Given the description of an element on the screen output the (x, y) to click on. 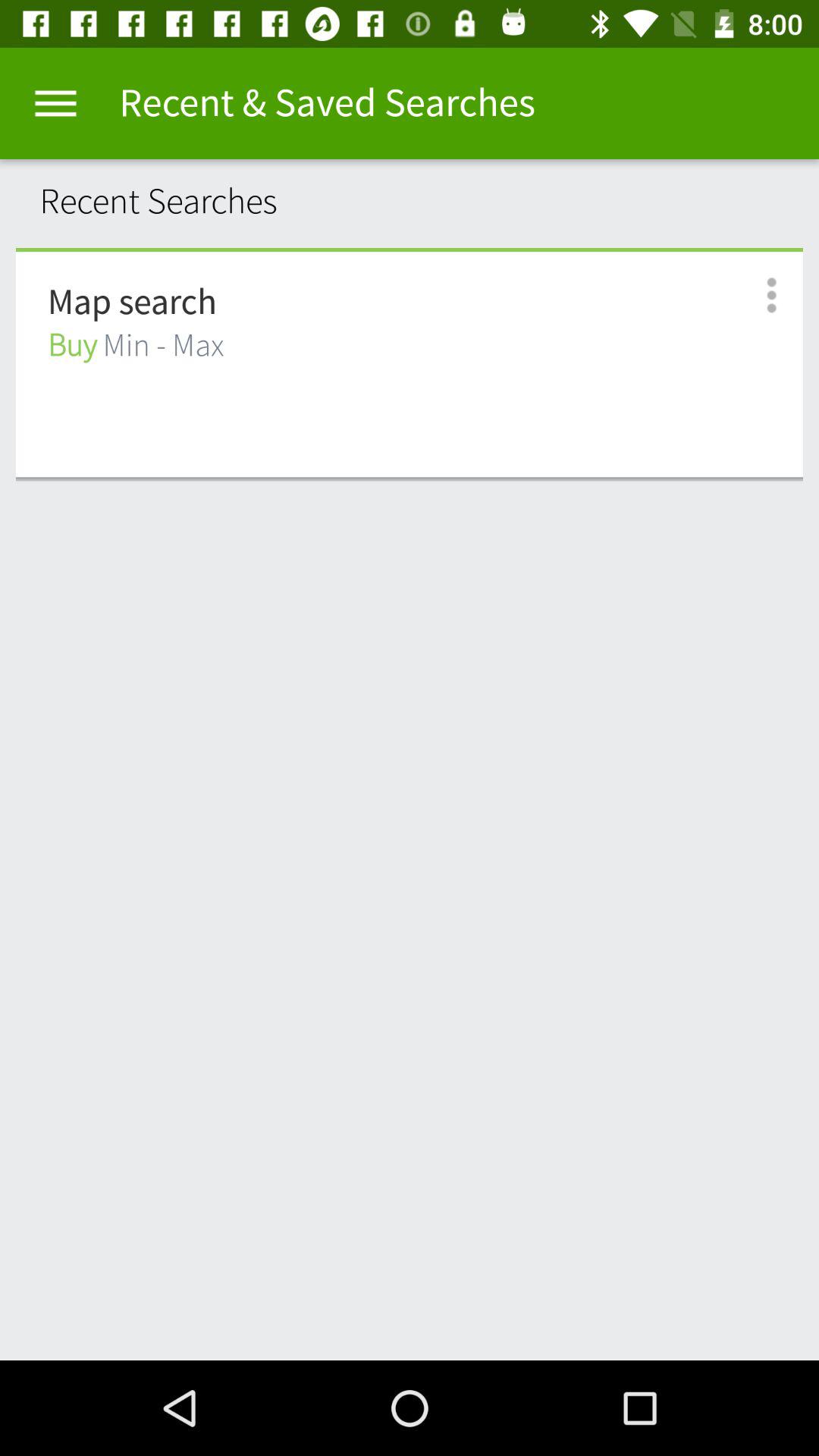
press the icon to the right of buy min - max icon (755, 295)
